Given the description of an element on the screen output the (x, y) to click on. 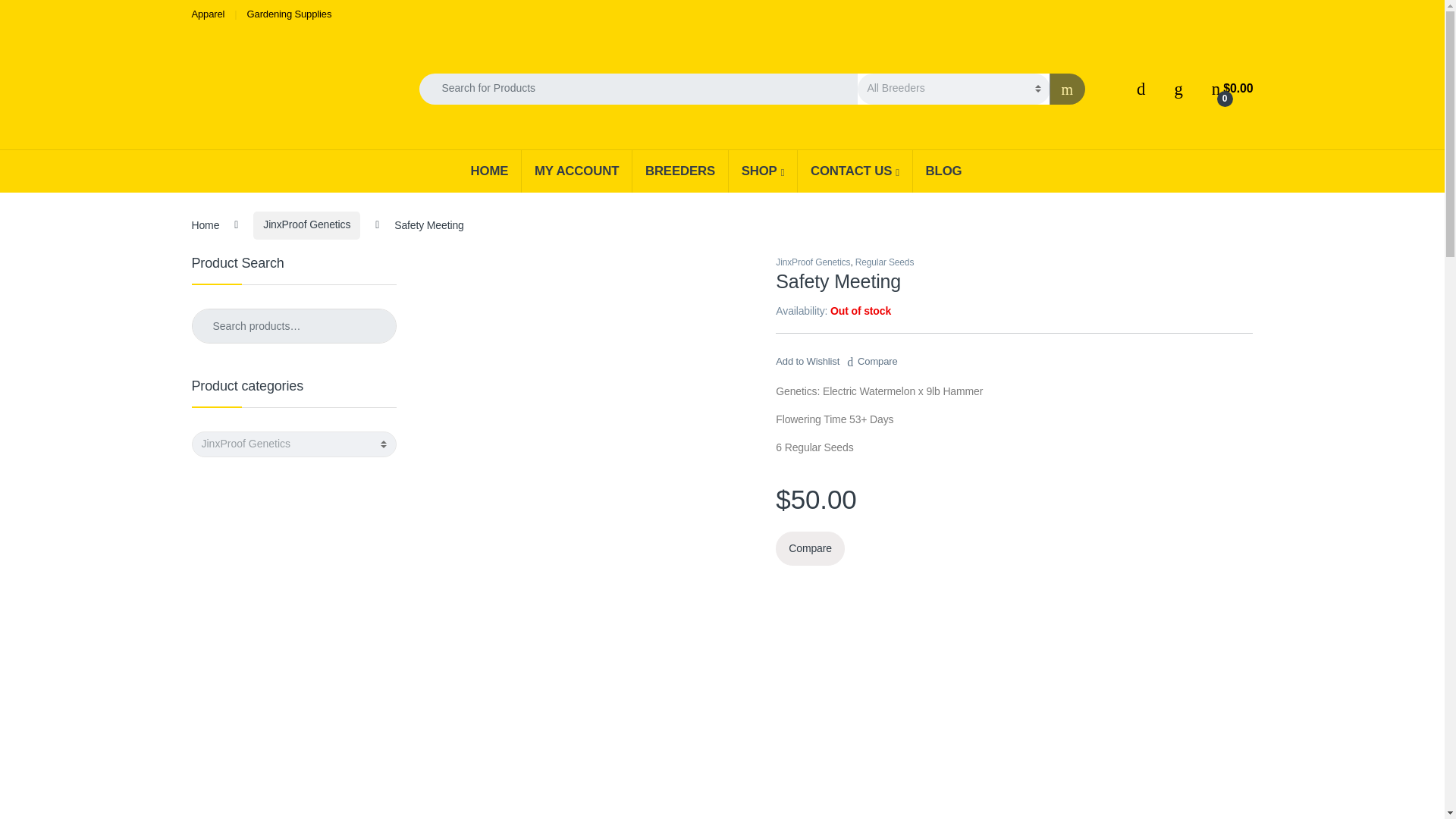
BLOG (943, 170)
Apparel (207, 13)
SHOP (762, 170)
BREEDERS (679, 170)
MY ACCOUNT (576, 170)
Apparel (207, 13)
HOME (489, 170)
Gardening Supplies (289, 13)
Gardening Supplies (289, 13)
CONTACT US (854, 170)
